Given the description of an element on the screen output the (x, y) to click on. 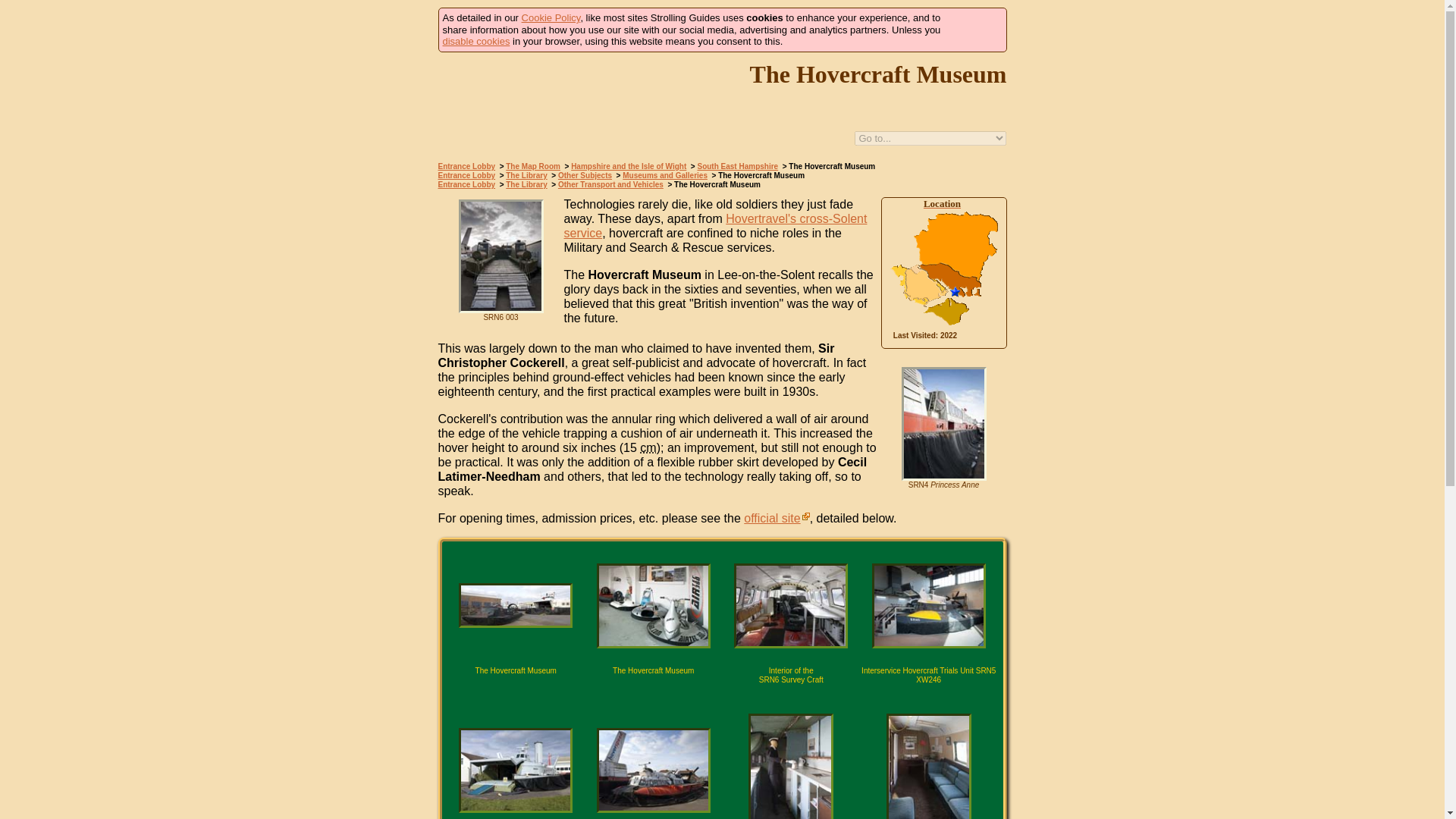
Got it (972, 29)
Go to my Strolling Guides page (476, 41)
Got it (972, 29)
Search this site (771, 139)
Cookie Policy (550, 17)
Strolling Guides (529, 150)
The Map Room (532, 166)
disable cookies (476, 41)
Go to my Strolling Guides page (550, 17)
Entrance Lobby (467, 166)
Help (701, 139)
Skip to content (284, 14)
Up to South East Hampshire (736, 139)
Hampshire and the Isle of Wight (627, 166)
Search this site (771, 139)
